Given the description of an element on the screen output the (x, y) to click on. 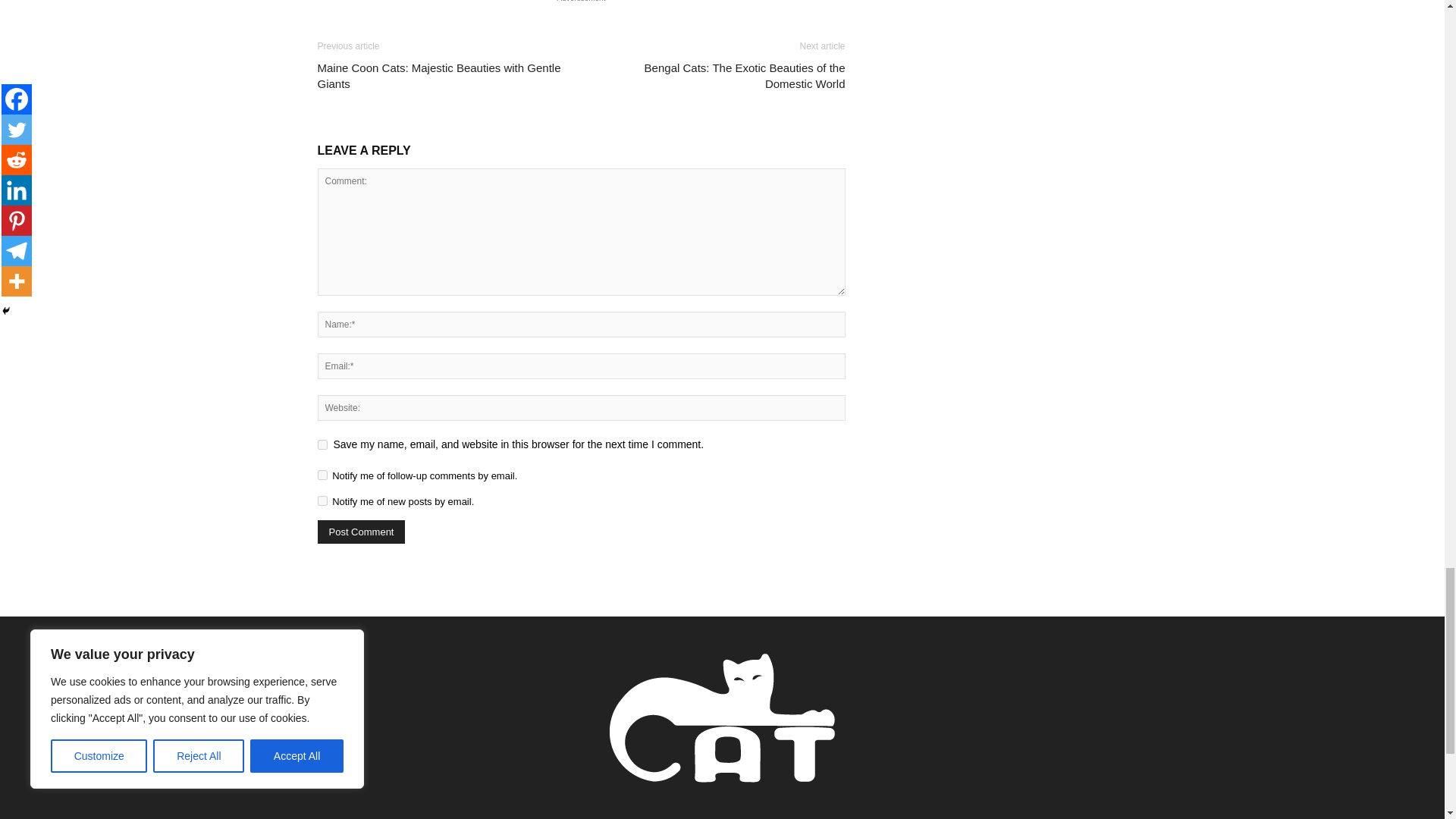
yes (321, 444)
Post Comment (360, 531)
subscribe (321, 474)
subscribe (321, 501)
